Given the description of an element on the screen output the (x, y) to click on. 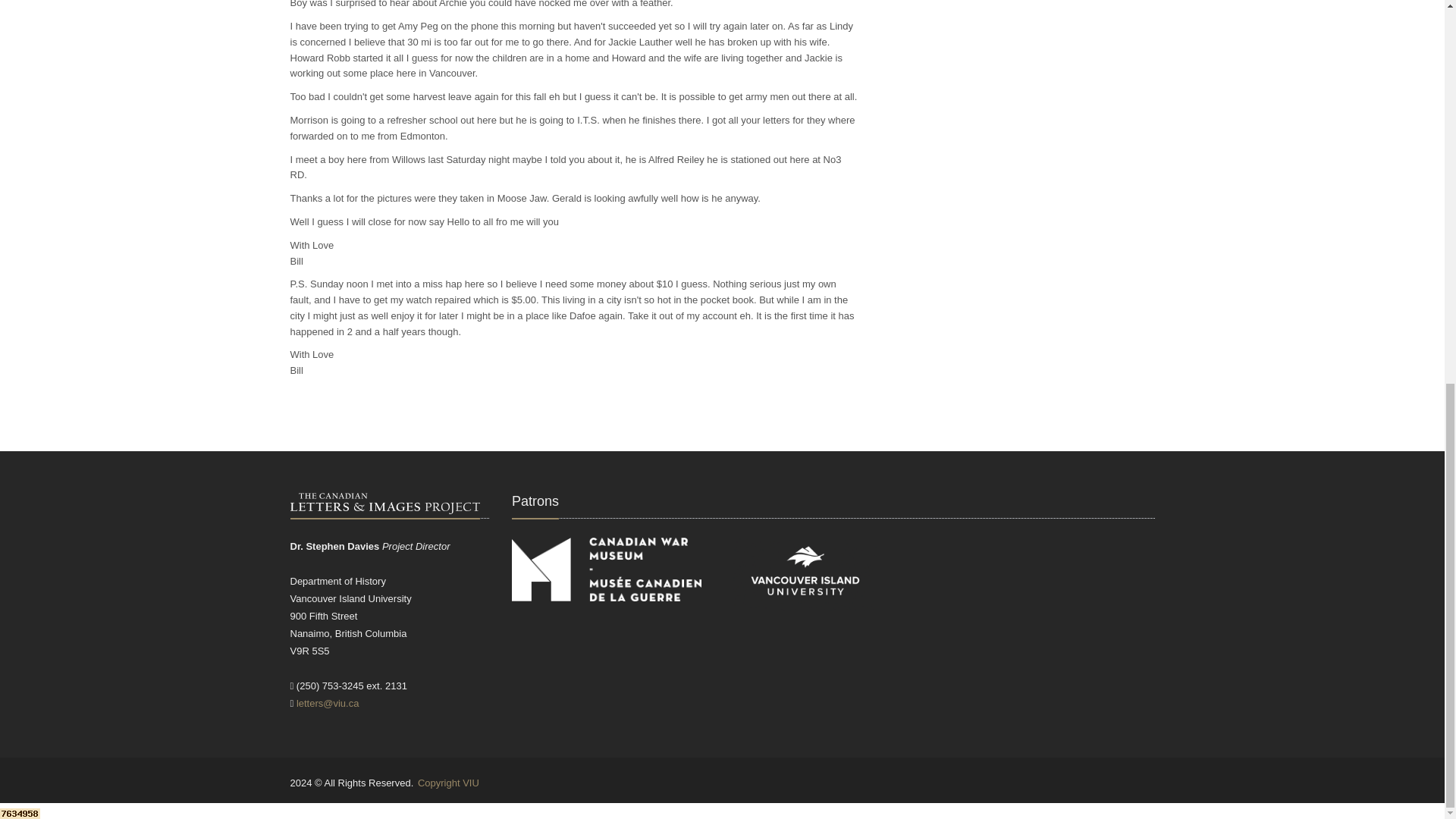
Copyright VIU (448, 782)
